Given the description of an element on the screen output the (x, y) to click on. 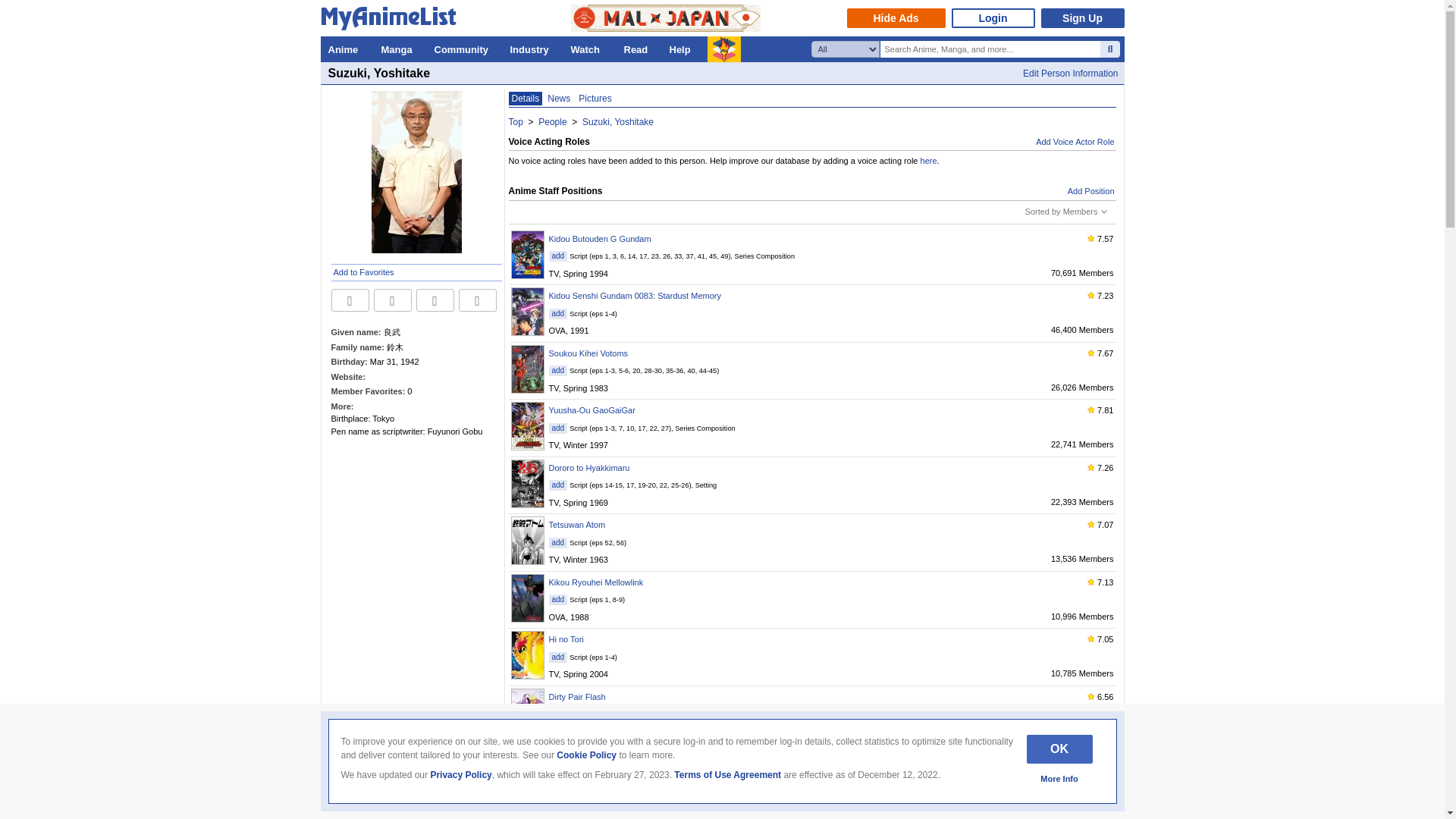
Sign Up (1082, 17)
MAL x JAPAN (665, 17)
Manga (399, 49)
Watch (588, 49)
Read (638, 49)
Hide Ads (894, 17)
Anime (346, 49)
Industry (532, 49)
MyAnimeList.net (392, 21)
Community (464, 49)
